Given the description of an element on the screen output the (x, y) to click on. 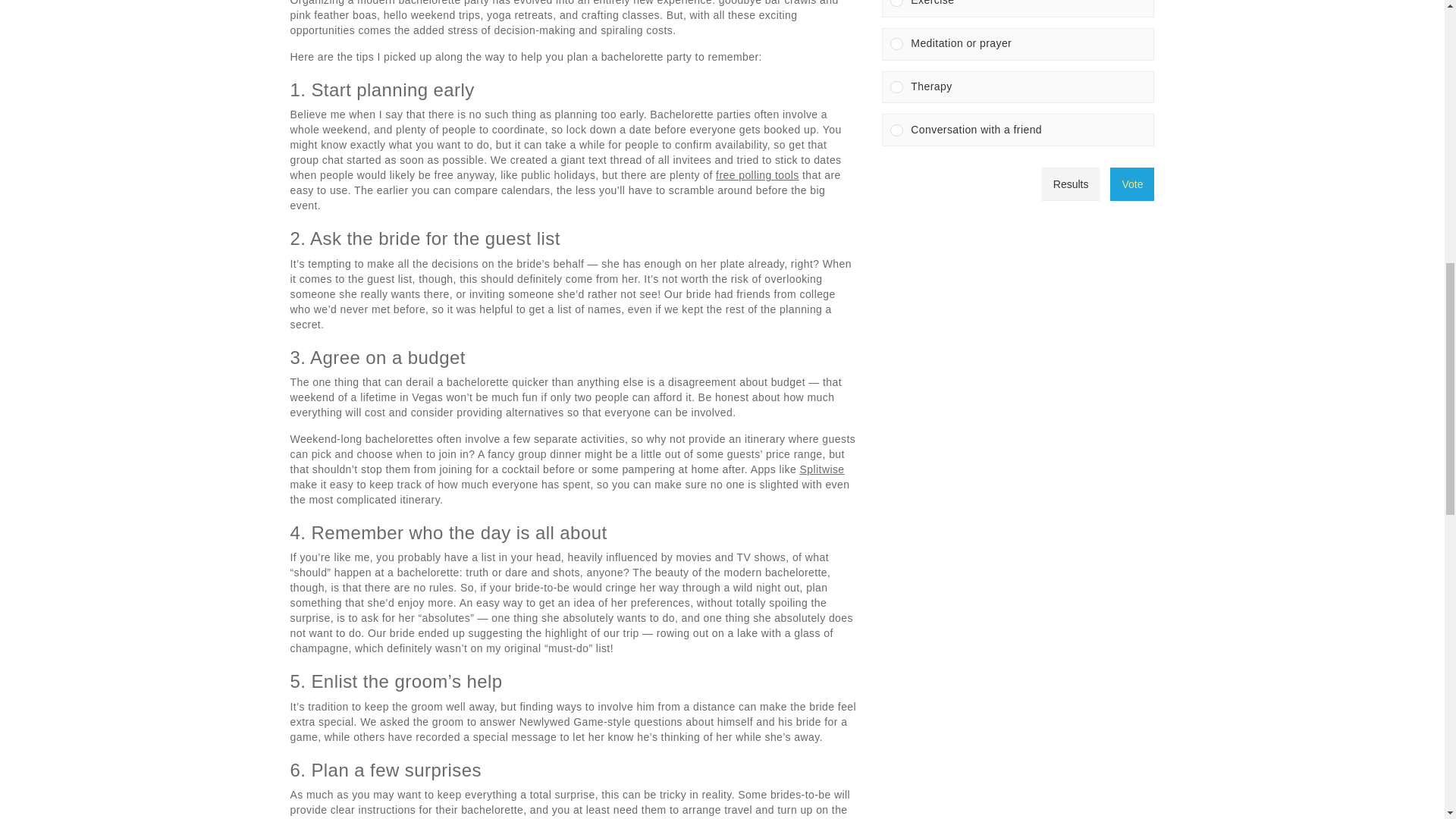
free polling tools (757, 174)
Splitwise (821, 469)
